Given the description of an element on the screen output the (x, y) to click on. 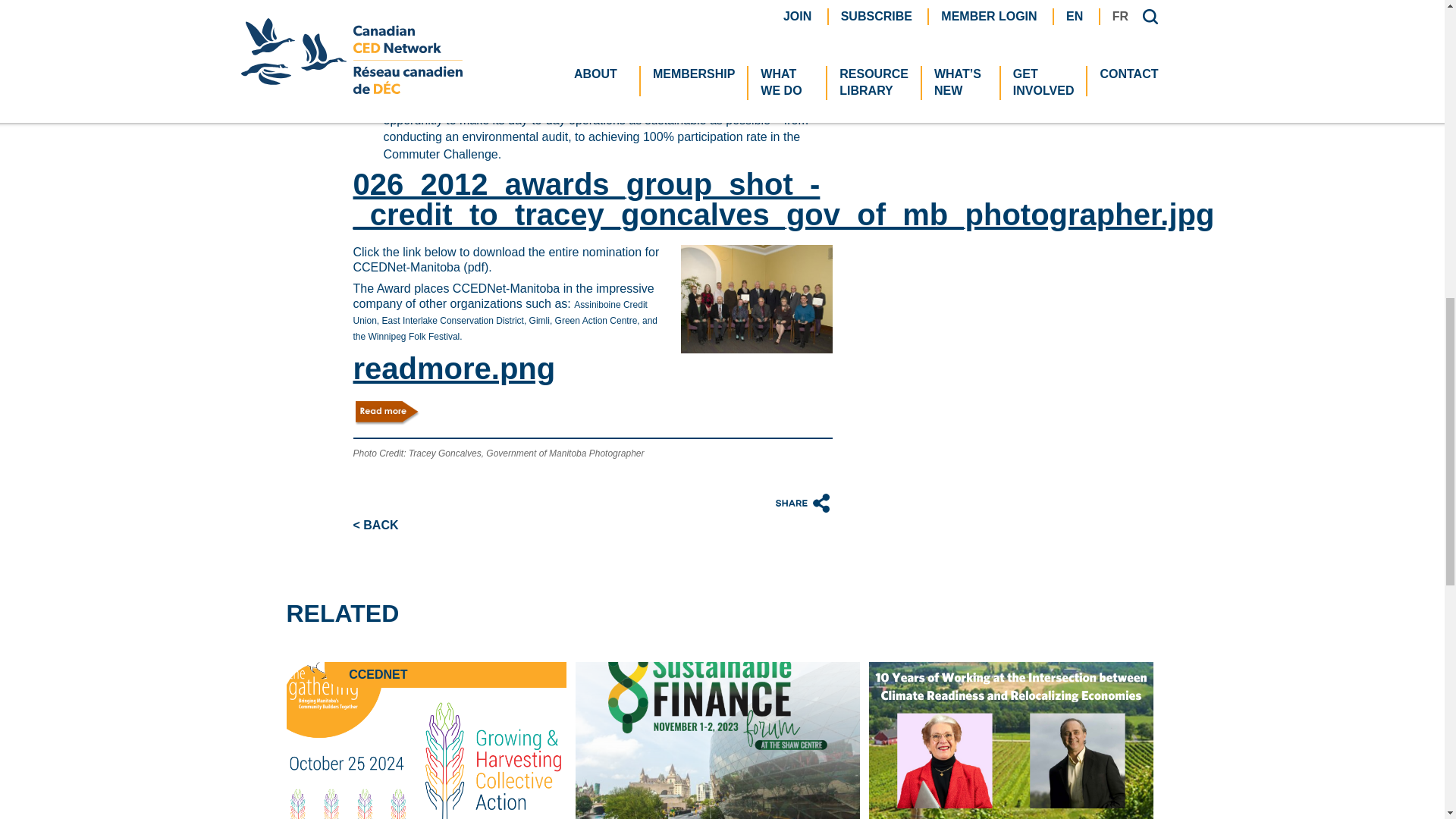
Sustainable Finance Forum 2023 Publishes Final Reports (717, 740)
